Given the description of an element on the screen output the (x, y) to click on. 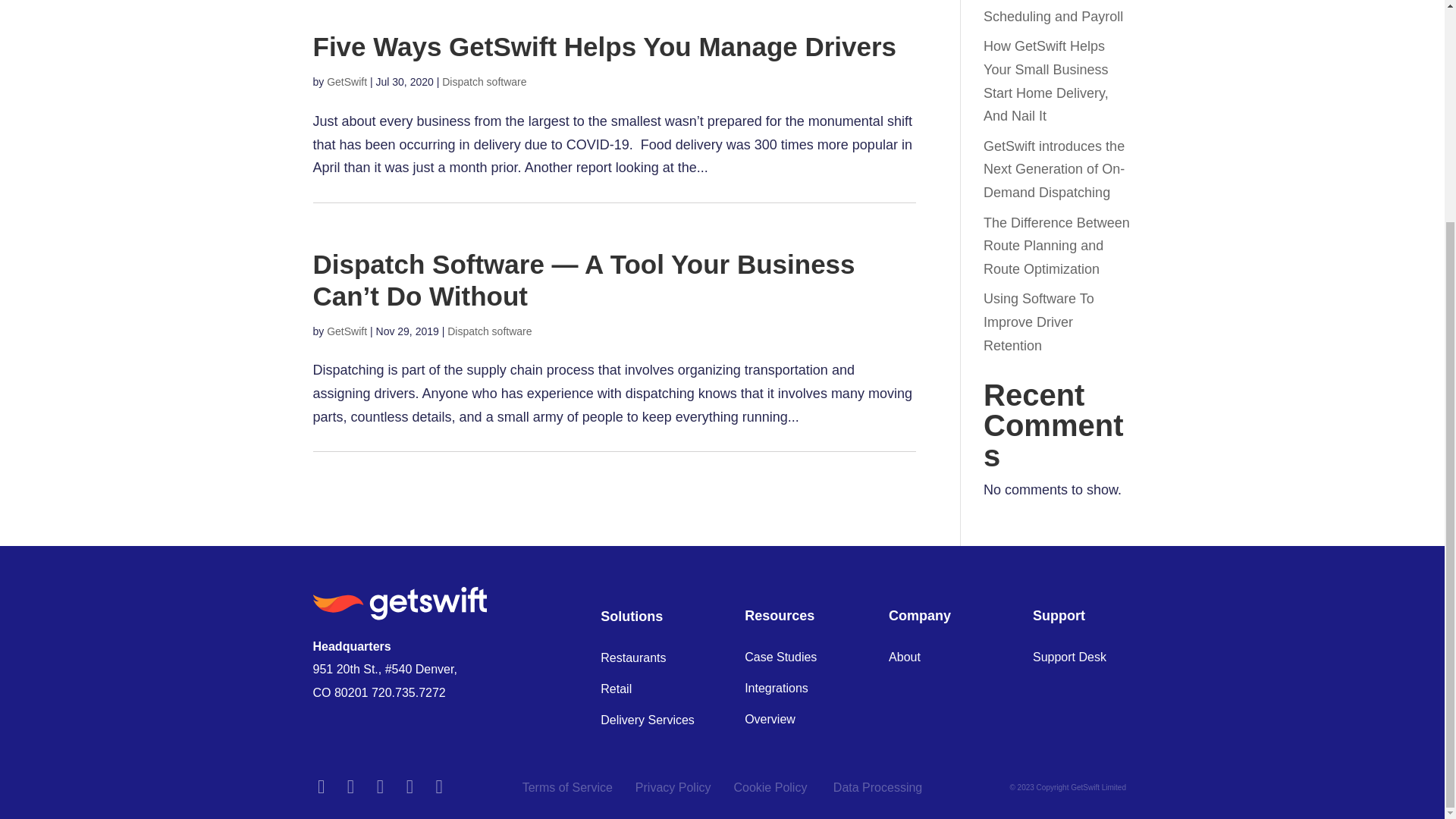
Privacy Policy (672, 787)
Cookie Policy (771, 787)
Five Ways GetSwift Helps You Manage Drivers (604, 46)
Support Desk (1069, 657)
Retail (615, 688)
Restaurants (632, 657)
Dispatch software (483, 81)
720.735.7272 (408, 692)
Overview (769, 719)
